Given the description of an element on the screen output the (x, y) to click on. 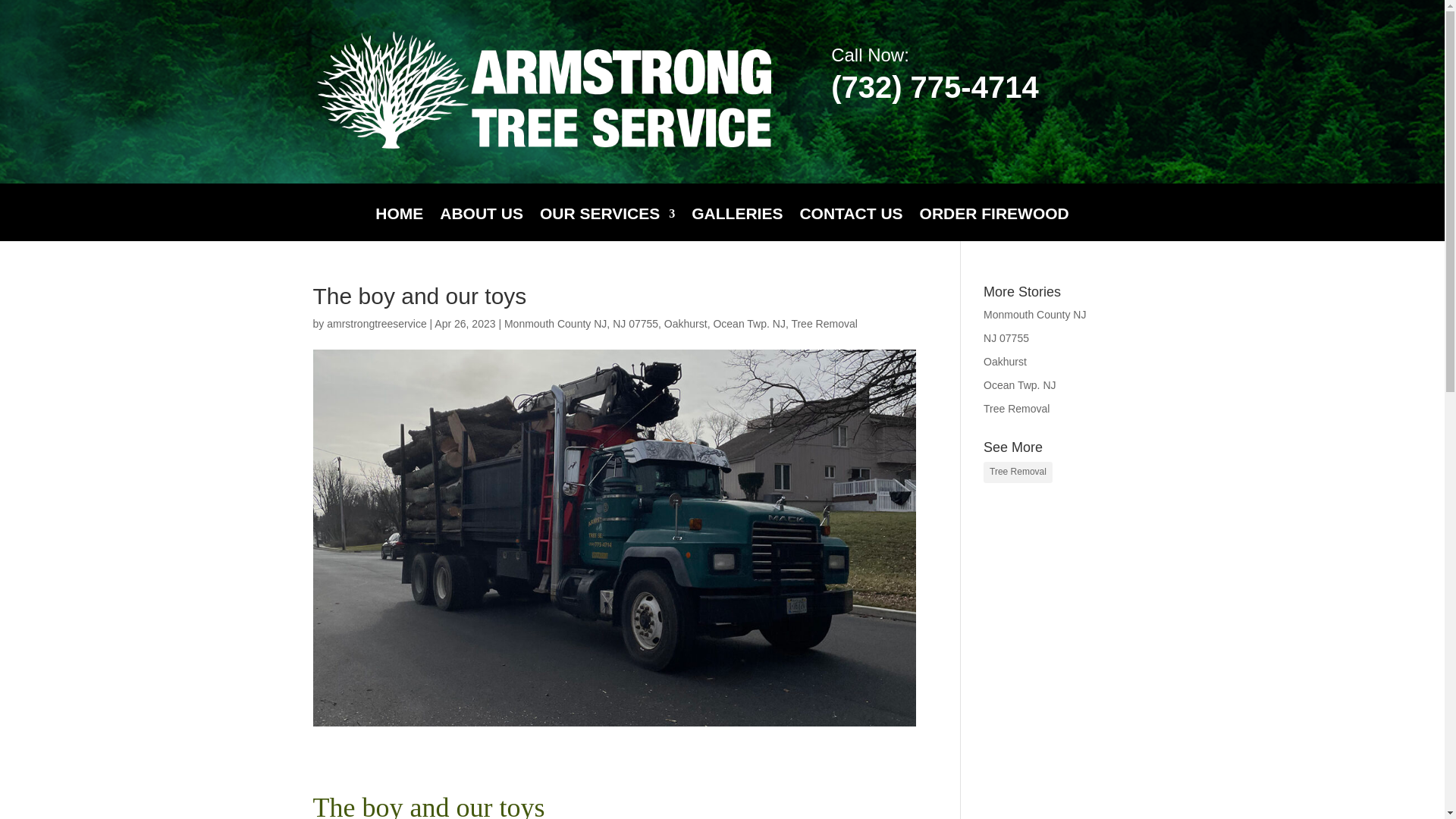
ABOUT US (480, 224)
NJ 07755 (1006, 337)
amrstrongtreeservice (376, 323)
Oakhurst (685, 323)
Tree Removal (1018, 472)
Ocean Twp. NJ (748, 323)
Monmouth County NJ (1035, 314)
Monmouth County NJ (555, 323)
OUR SERVICES (607, 224)
GALLERIES (737, 224)
Oakhurst (1005, 361)
ORDER FIREWOOD (994, 224)
Tree Removal (823, 323)
HOME (399, 224)
Ocean Twp. NJ (1019, 385)
